Given the description of an element on the screen output the (x, y) to click on. 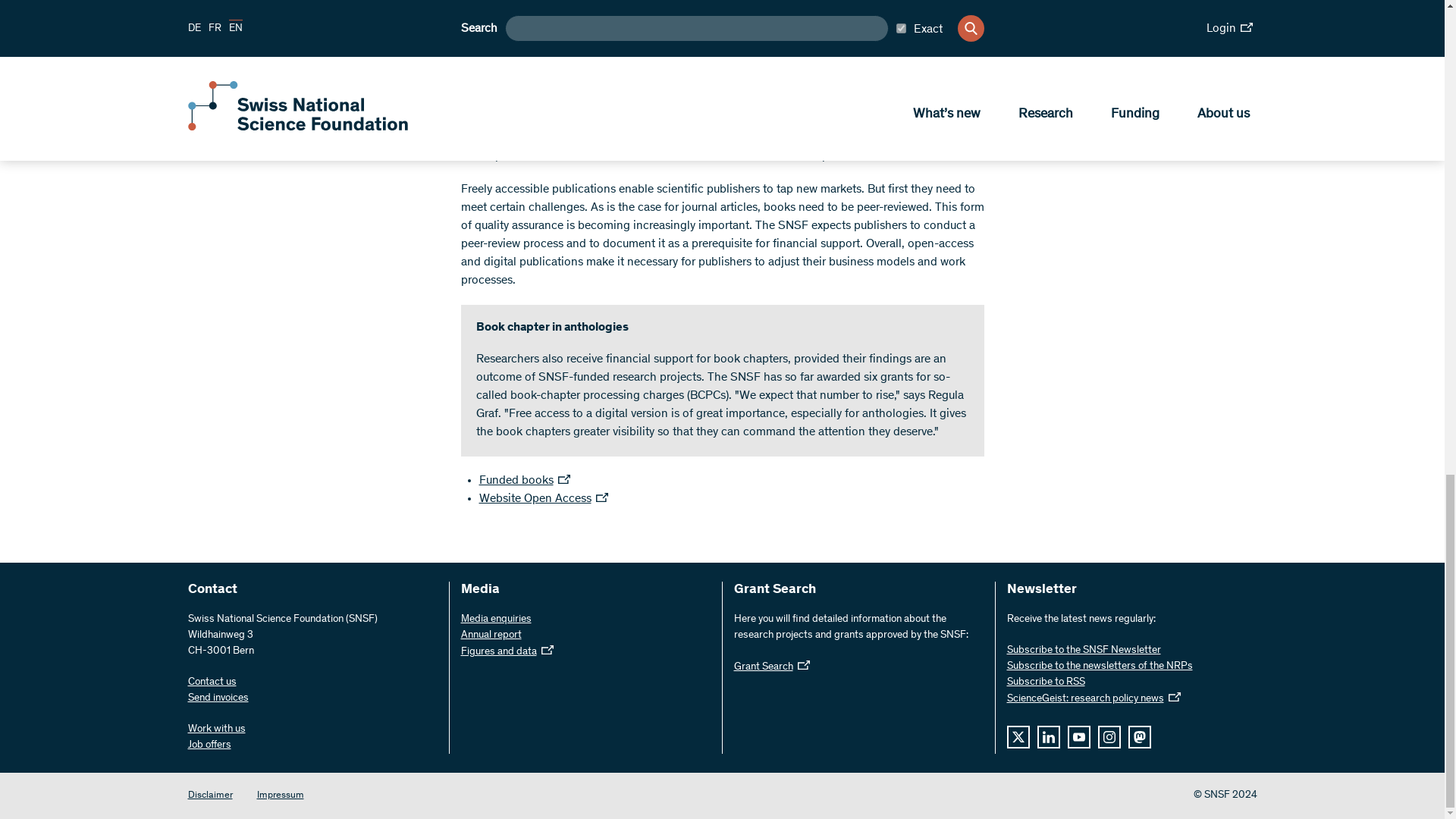
YouTube Icon (1077, 736)
External Link Icon (1173, 696)
Instagram Icon (1108, 736)
External Link Icon (803, 664)
External Link Icon (563, 479)
LinkedIn Icon (1048, 736)
External Link Icon (547, 649)
External Link Icon (601, 497)
